Given the description of an element on the screen output the (x, y) to click on. 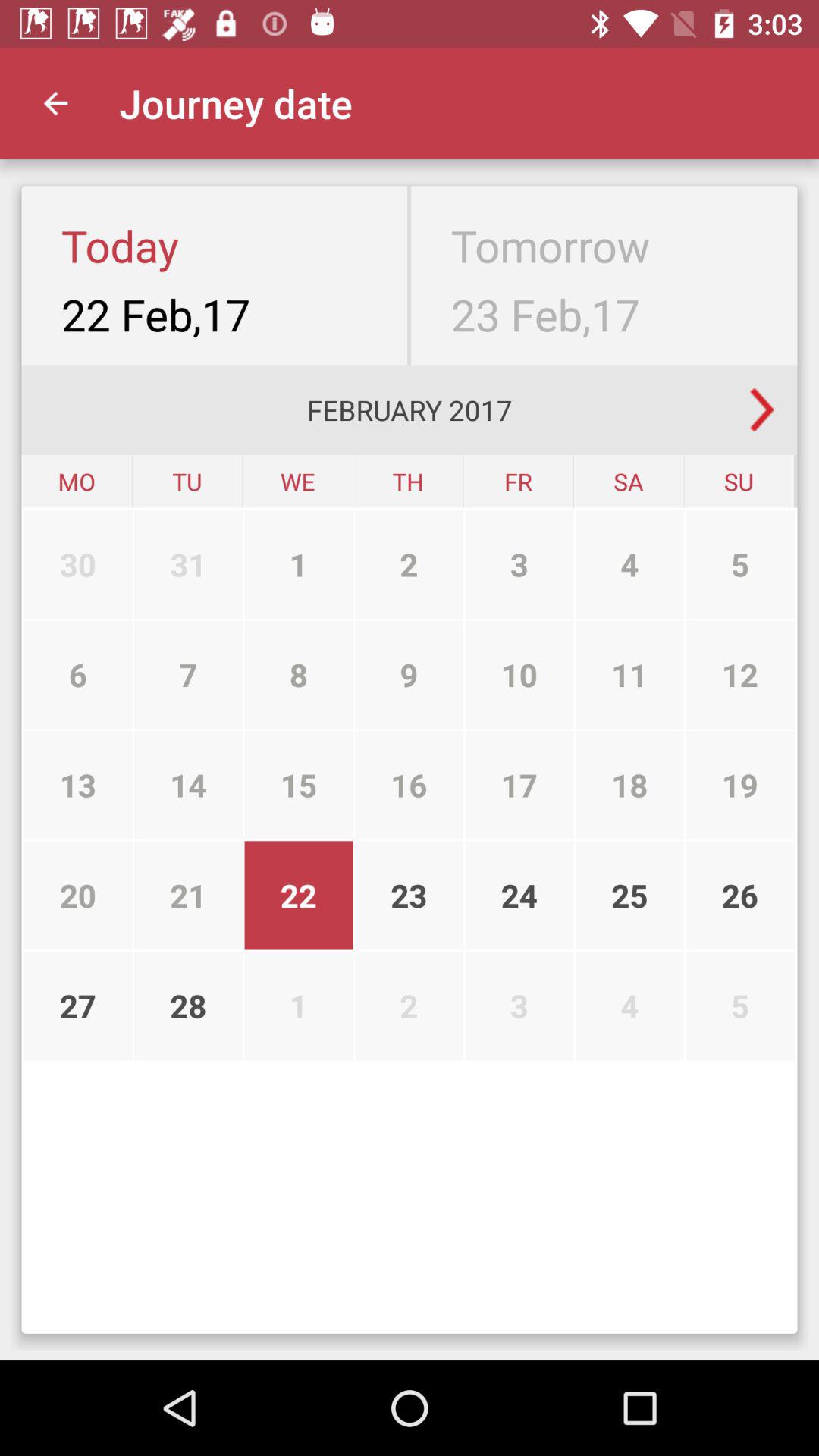
press the app to the left of the journey date (55, 103)
